Given the description of an element on the screen output the (x, y) to click on. 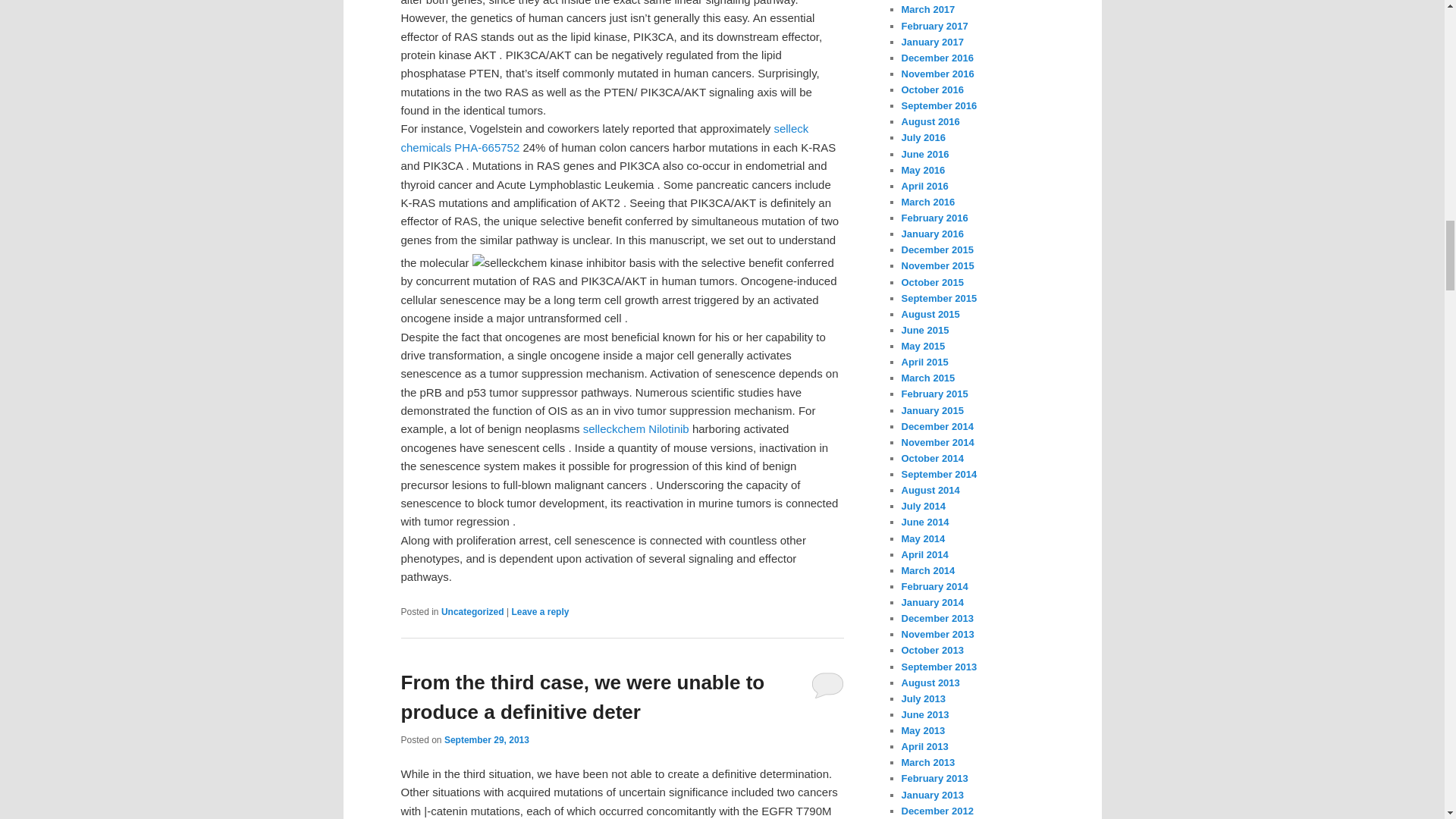
selleck chemicals PHA-665752 (604, 137)
Uncategorized (472, 611)
Leave a reply (540, 611)
selleckchem Nilotinib (635, 428)
September 29, 2013 (486, 739)
